Given the description of an element on the screen output the (x, y) to click on. 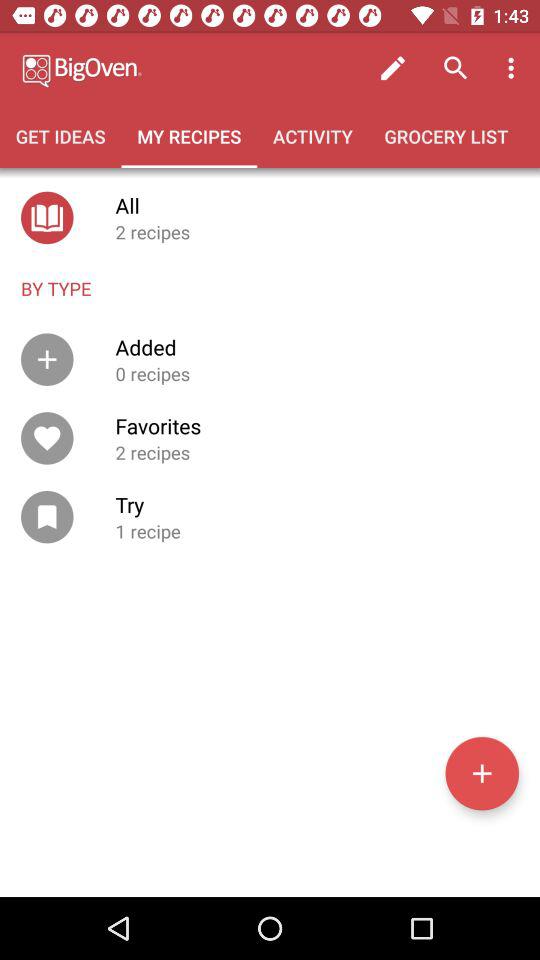
click item above the grocery list (392, 67)
